Given the description of an element on the screen output the (x, y) to click on. 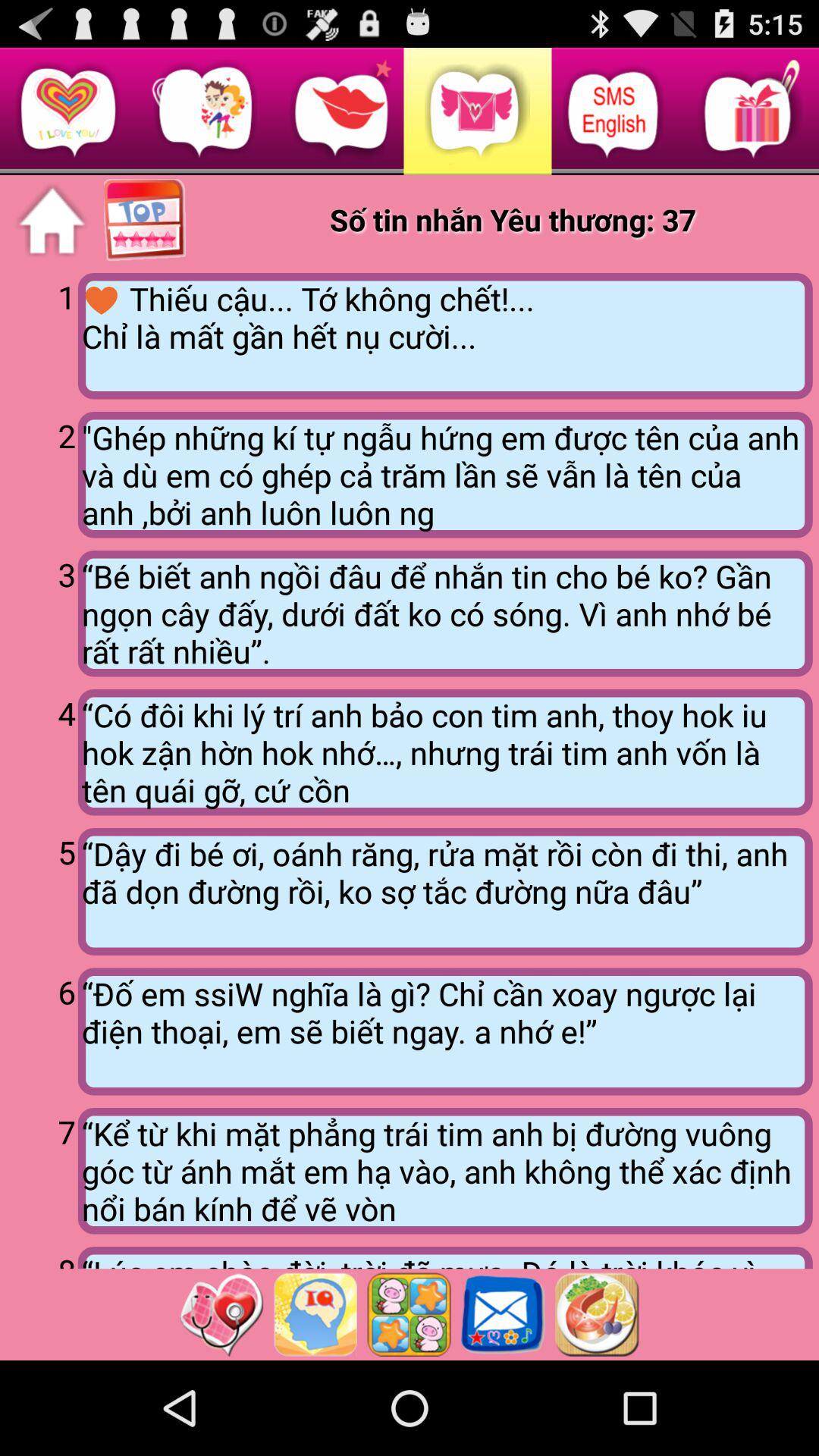
scroll to 7 icon (41, 1168)
